Given the description of an element on the screen output the (x, y) to click on. 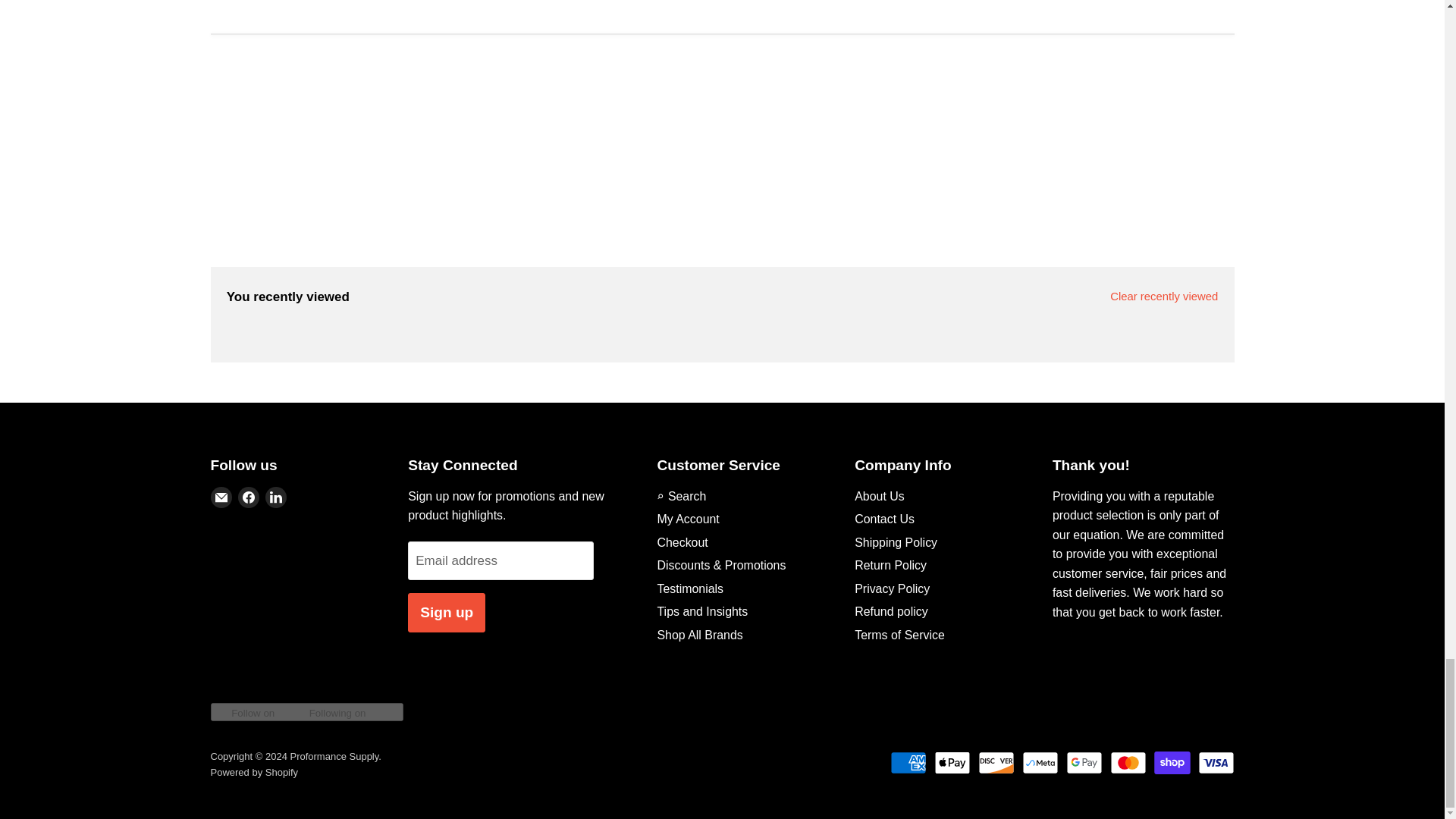
Facebook (248, 496)
Email (221, 496)
LinkedIn (275, 496)
